Given the description of an element on the screen output the (x, y) to click on. 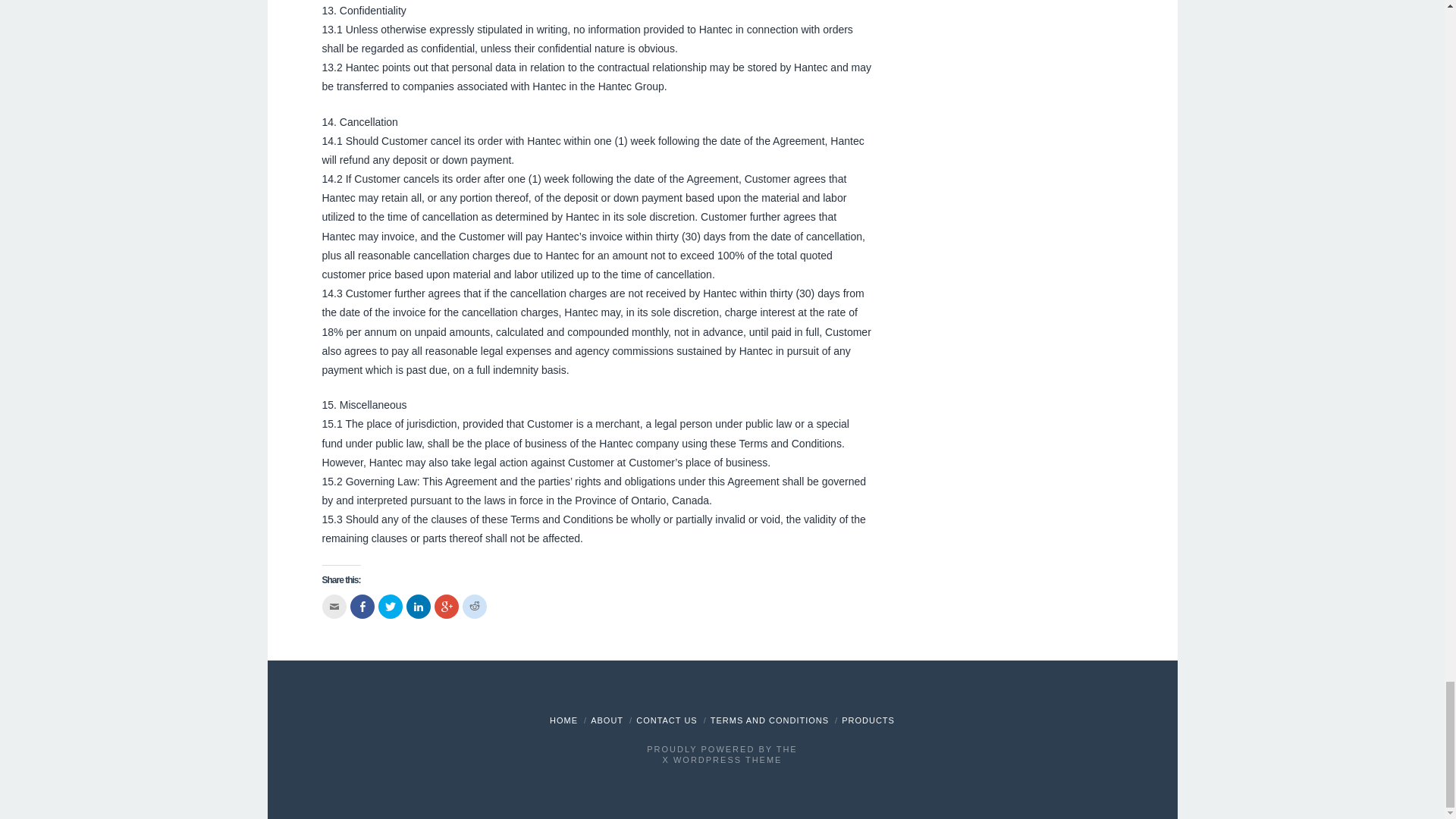
Click to share on Twitter (389, 606)
Click to share on LinkedIn (418, 606)
Click to share on Reddit (474, 606)
Share on Facebook (362, 606)
Click to email this to a friend (333, 606)
X WordPress Theme (722, 759)
